Given the description of an element on the screen output the (x, y) to click on. 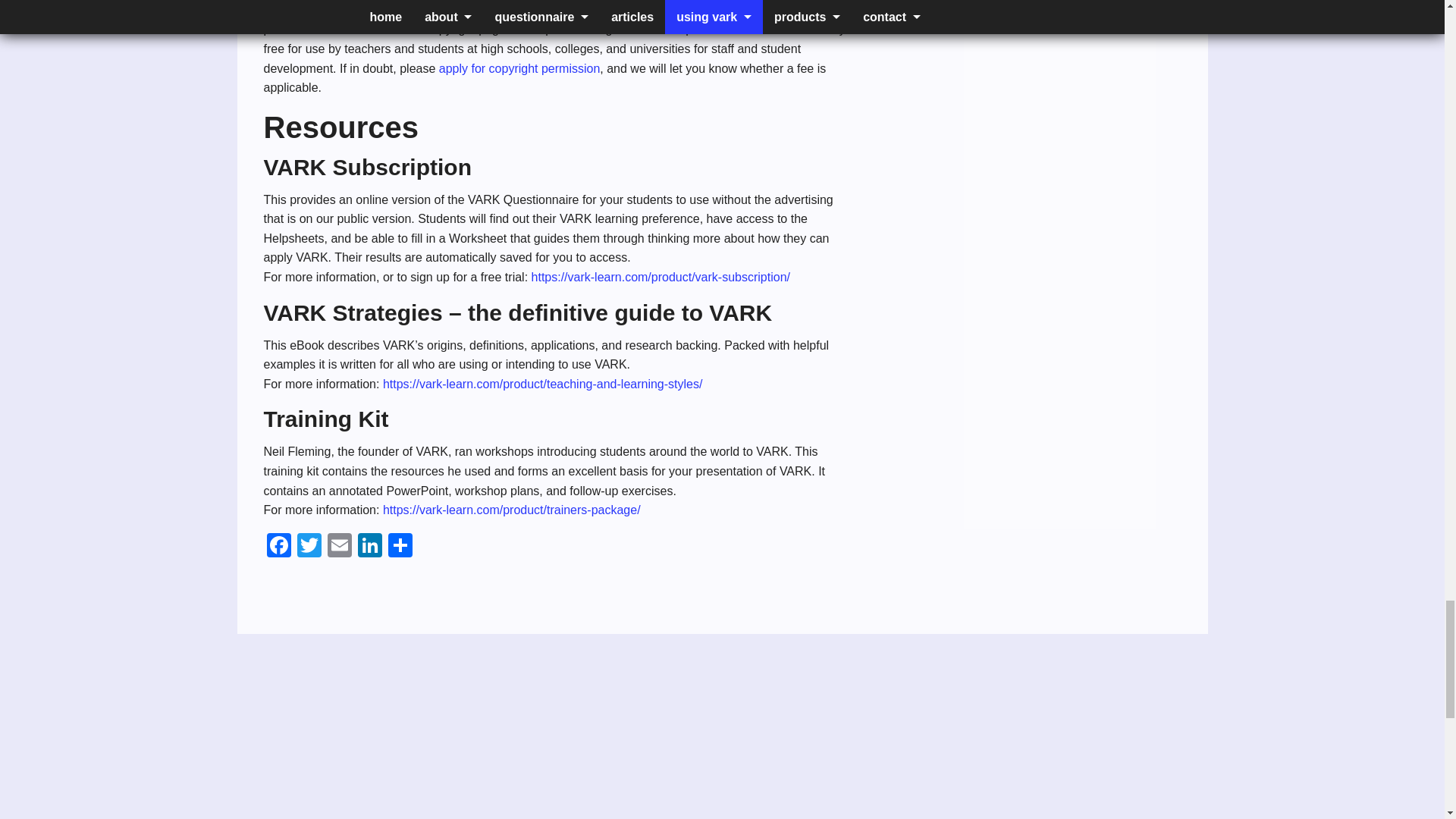
Email (339, 547)
Twitter (309, 547)
LinkedIn (370, 547)
Facebook (278, 547)
